Given the description of an element on the screen output the (x, y) to click on. 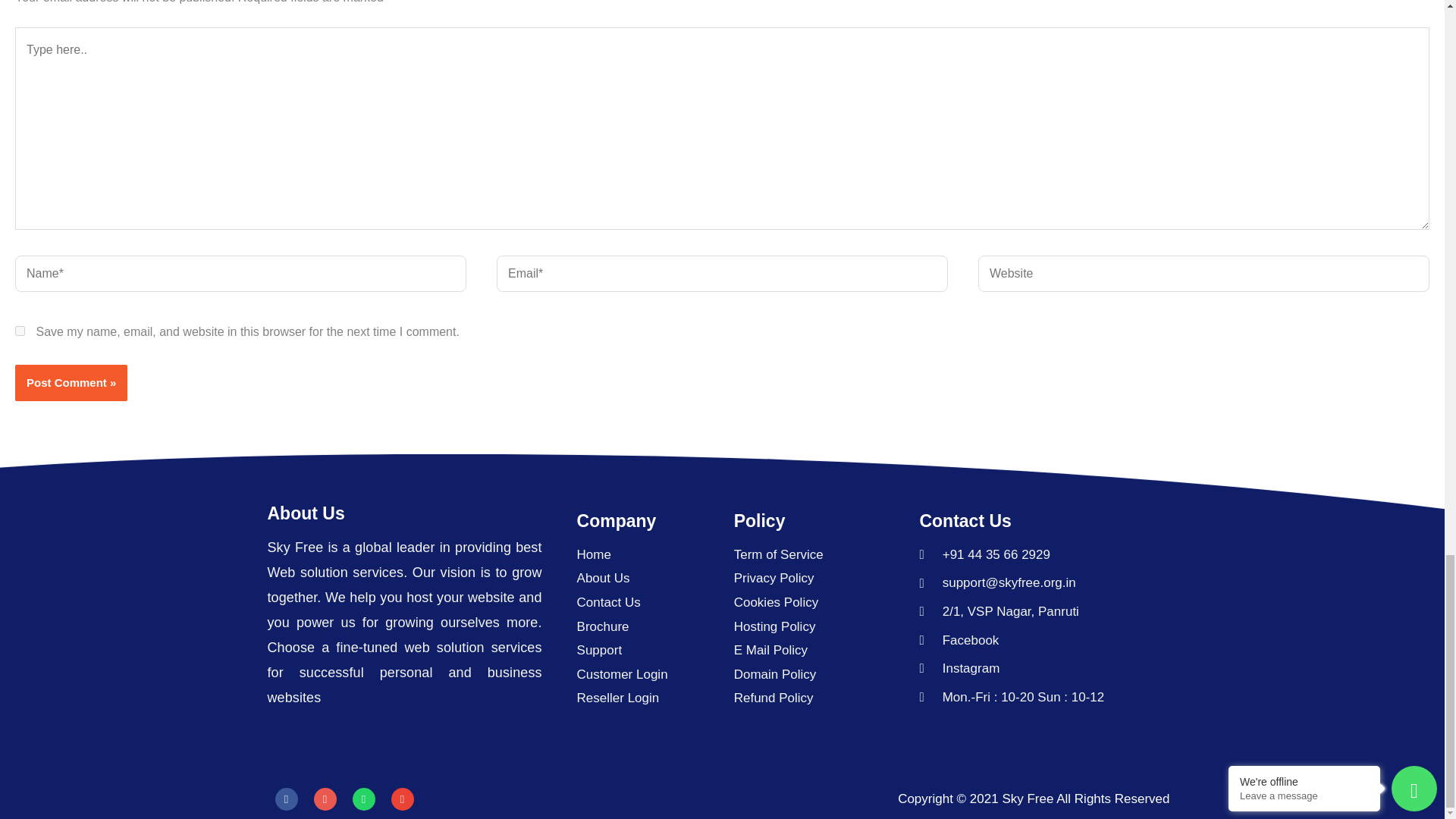
yes (19, 330)
